Given the description of an element on the screen output the (x, y) to click on. 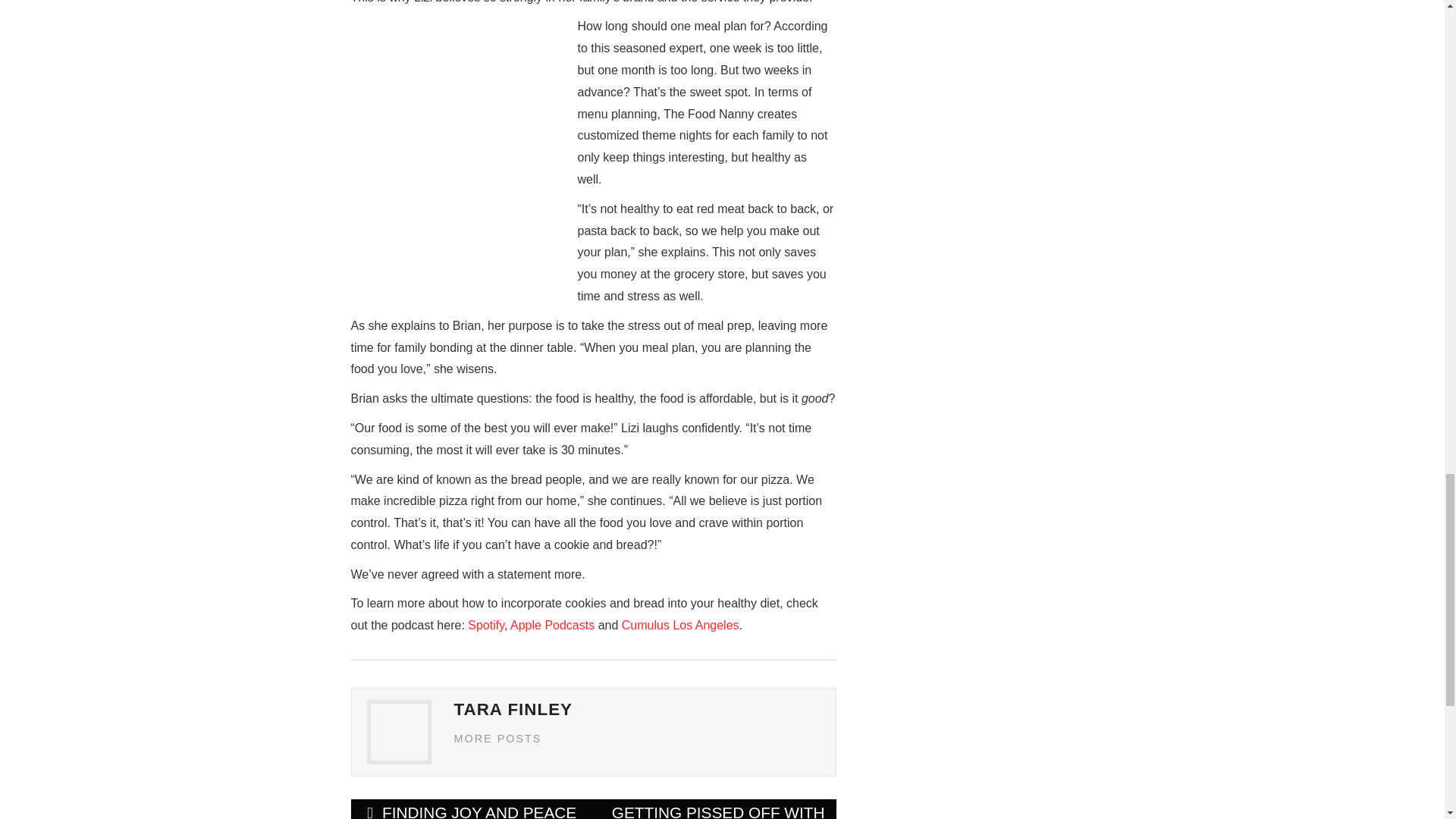
Spotify (485, 625)
FINDING JOY AND PEACE IN THE KITCHEN WITH EMILY HUTCHINSON (471, 809)
Cumulus Los Angeles (680, 625)
Apple Podcasts (552, 625)
GETTING PISSED OFF WITH MICHAEL RAPAPORT (713, 809)
MORE POSTS (496, 738)
